Given the description of an element on the screen output the (x, y) to click on. 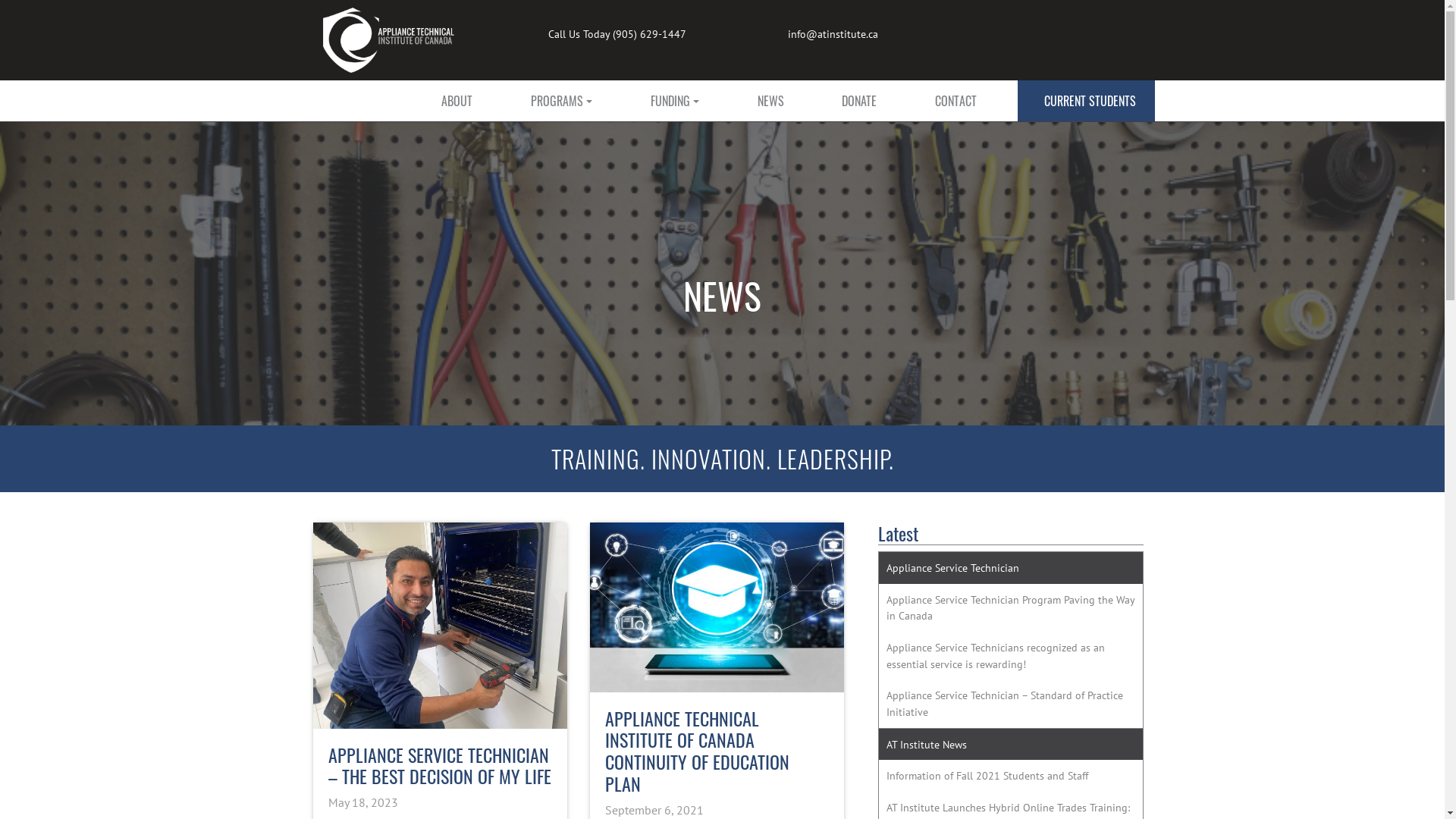
DONATE Element type: text (859, 100)
NEWS Element type: text (770, 100)
ABOUT Element type: text (457, 100)
CURRENT STUDENTS Element type: text (1085, 100)
PROGRAMS Element type: text (561, 100)
Appliance Service Technician Element type: text (1010, 567)
AT Institute News Element type: text (1010, 744)
CONTACT Element type: text (956, 100)
Information of Fall 2021 Students and Staff Element type: text (1010, 775)
FUNDING Element type: text (674, 100)
info@atinstitute.ca Element type: text (832, 33)
(905) 629-1447 Element type: text (649, 33)
